Given the description of an element on the screen output the (x, y) to click on. 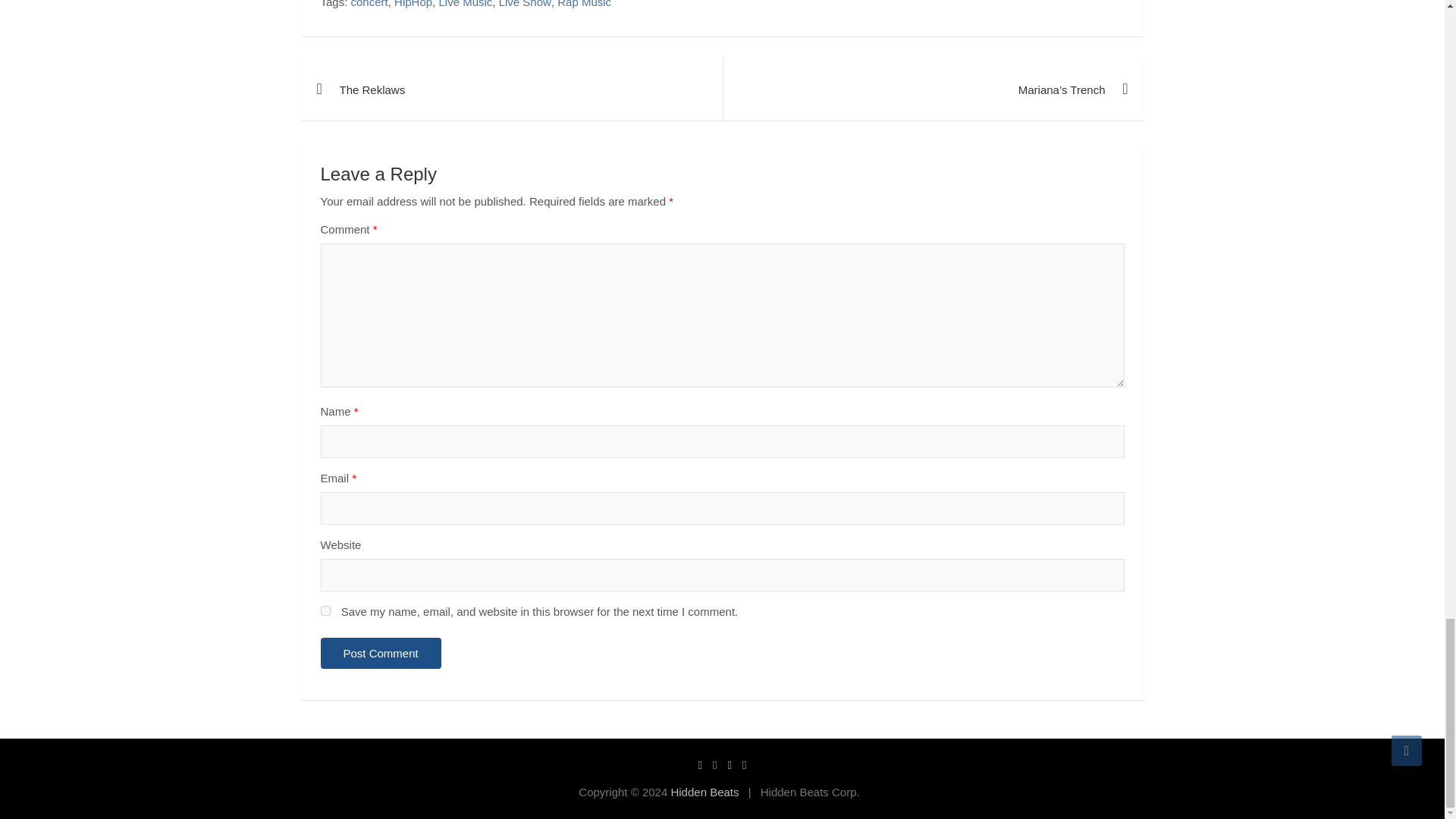
Rap Music (584, 4)
Post Comment (380, 653)
concert (369, 4)
Hidden Beats (703, 791)
yes (325, 610)
Live Music (465, 4)
Hidden Beats (703, 791)
Live Show (525, 4)
Post Comment (380, 653)
The Reklaws (511, 89)
